Given the description of an element on the screen output the (x, y) to click on. 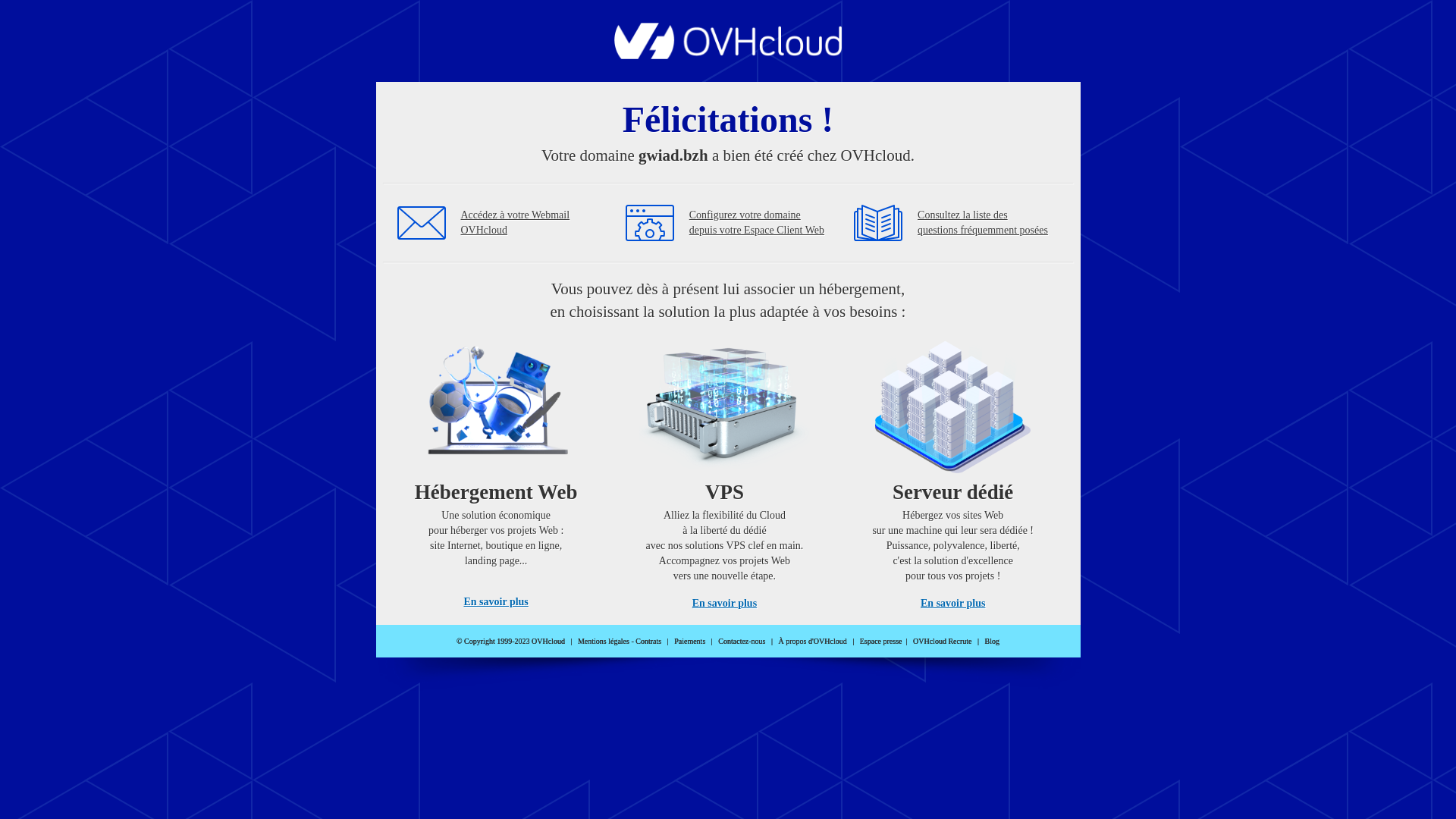
Blog Element type: text (992, 641)
Espace presse Element type: text (880, 641)
En savoir plus Element type: text (495, 601)
VPS Element type: hover (724, 469)
Paiements Element type: text (689, 641)
Configurez votre domaine
depuis votre Espace Client Web Element type: text (756, 222)
En savoir plus Element type: text (952, 602)
OVHcloud Recrute Element type: text (942, 641)
OVHcloud Element type: hover (727, 54)
Contactez-nous Element type: text (741, 641)
En savoir plus Element type: text (724, 602)
